Given the description of an element on the screen output the (x, y) to click on. 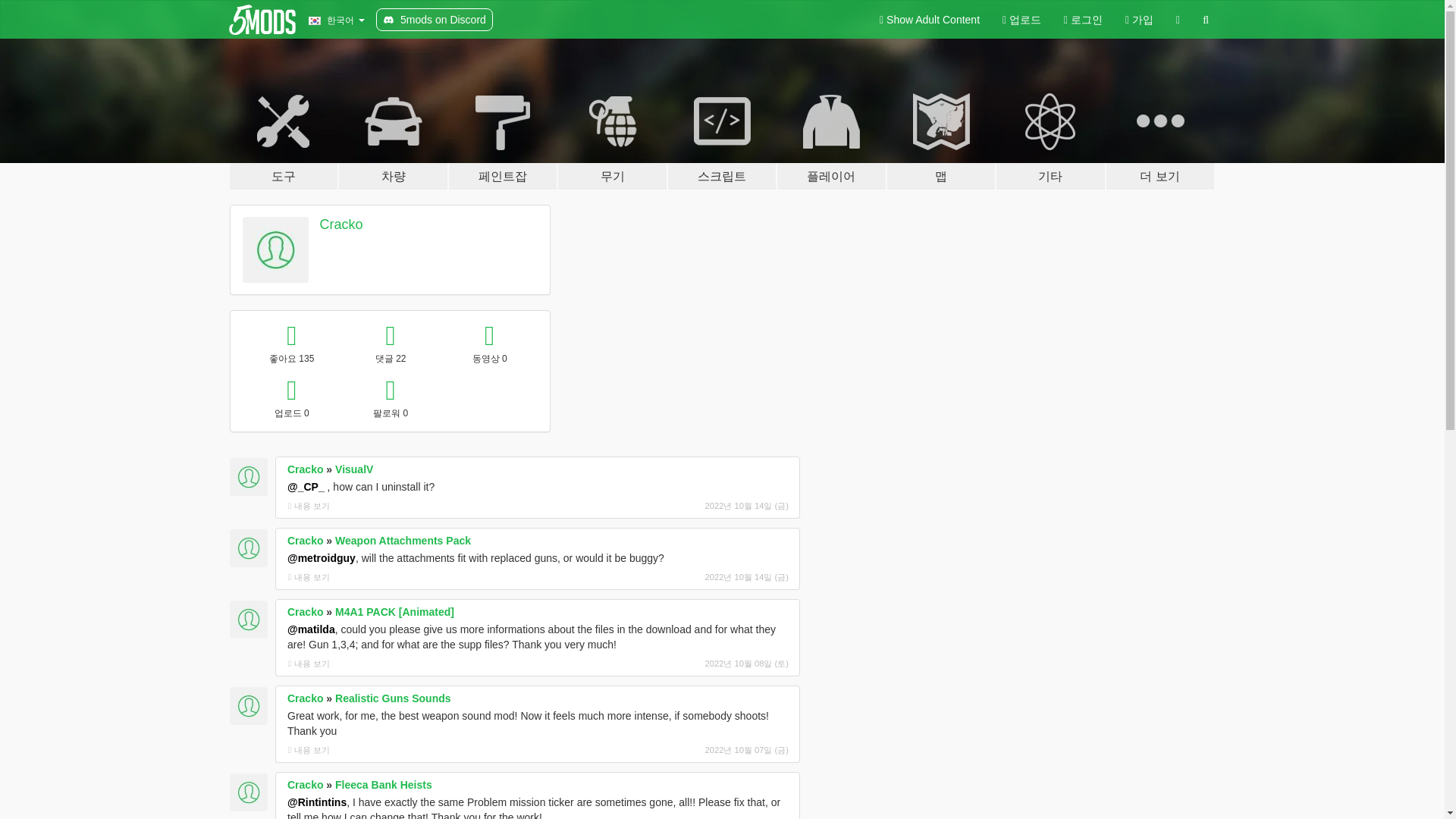
5mods on Discord (434, 19)
Show Adult Content (929, 19)
Light mode (929, 19)
